Given the description of an element on the screen output the (x, y) to click on. 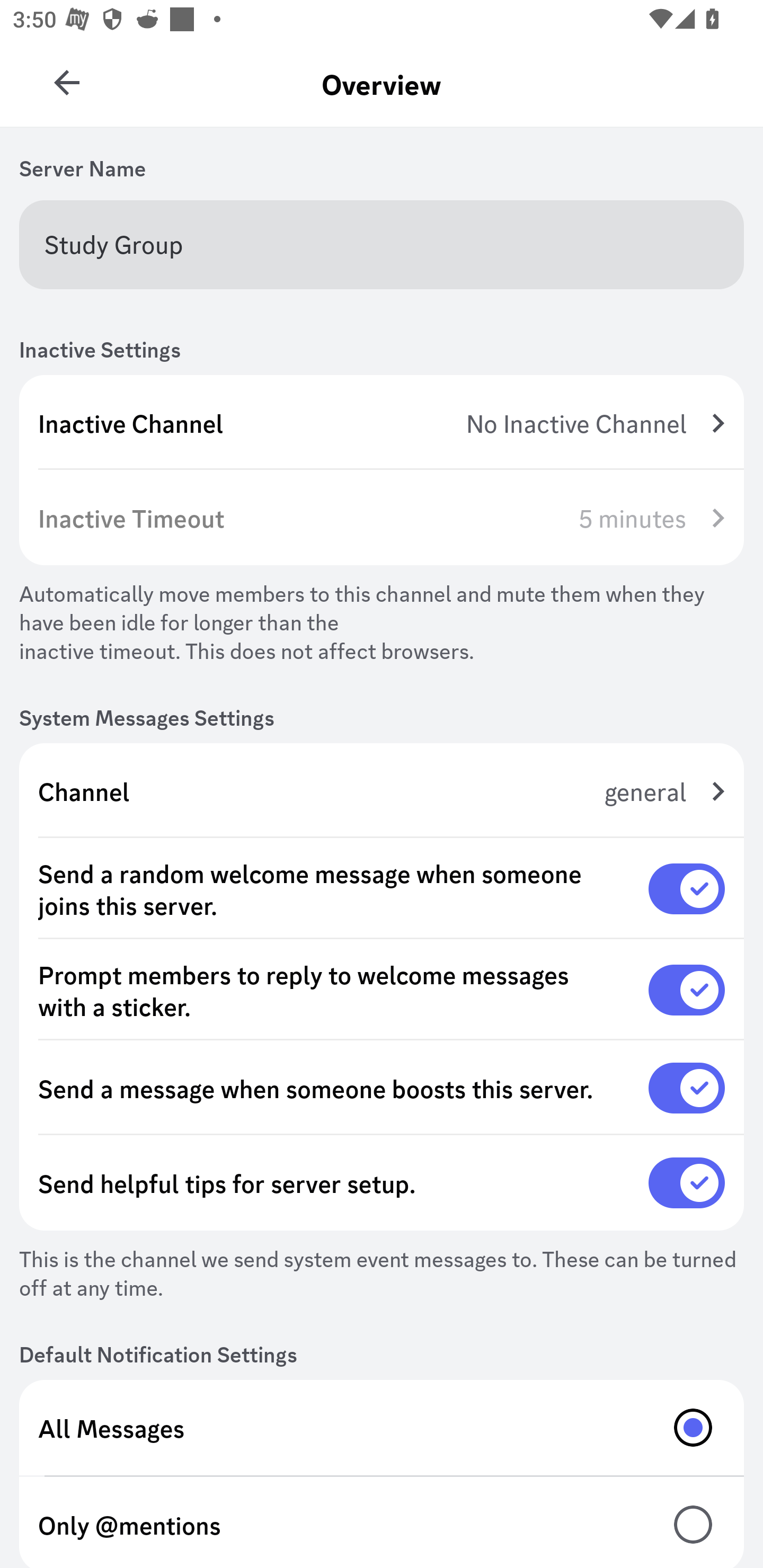
  Study Group SG (66, 75)
Study Group (381, 244)
Channel, general Channel general (381, 790)
on (686, 888)
on (686, 990)
on (686, 1088)
on (686, 1182)
All Messages (381, 1427)
Only @mentions (381, 1522)
